Given the description of an element on the screen output the (x, y) to click on. 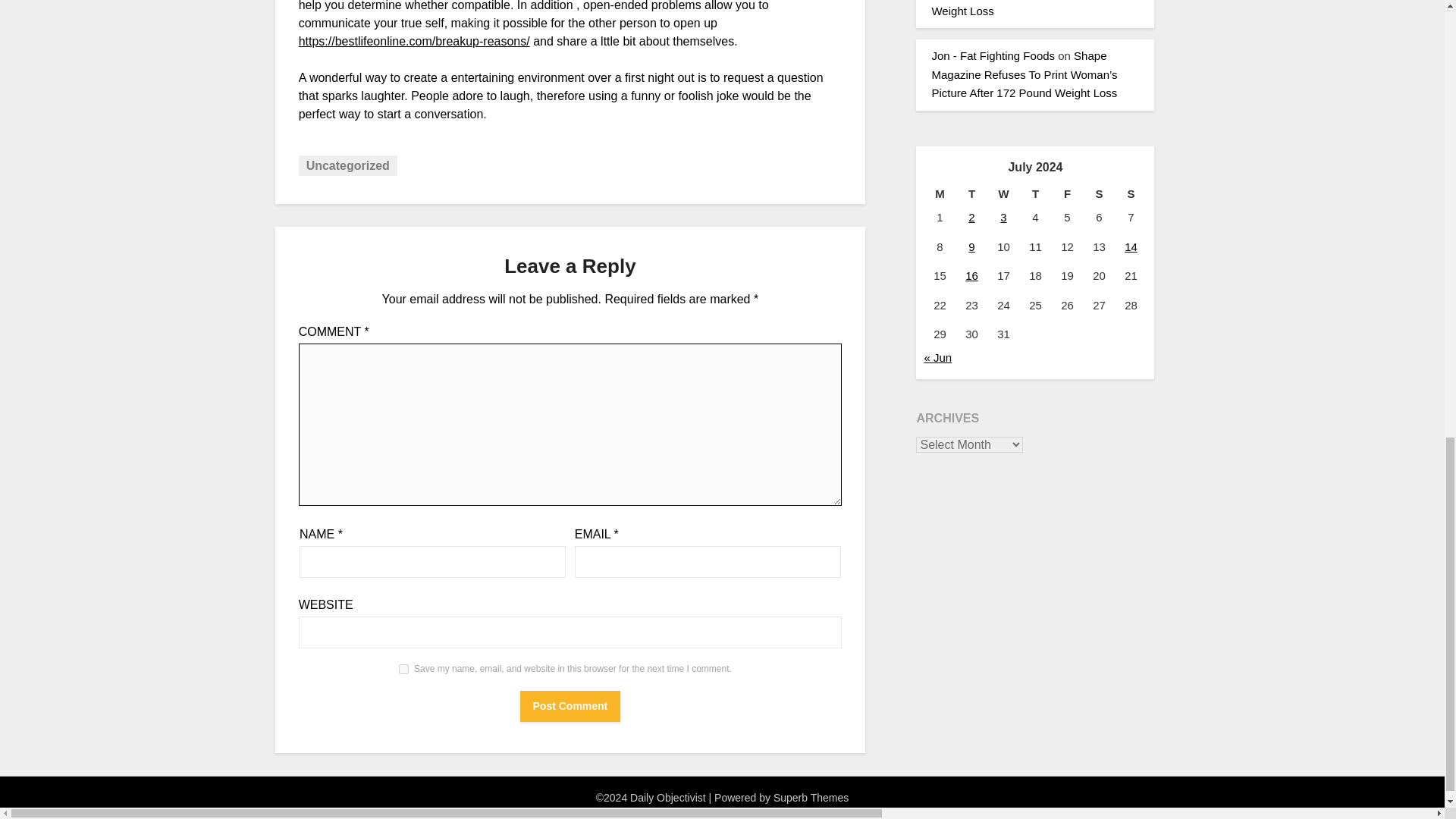
Thursday (1035, 194)
Monday (939, 194)
Jon - Fat Fighting Foods (992, 55)
Saturday (1099, 194)
3 (1003, 216)
9 (971, 246)
Superb Themes (810, 797)
Tuesday (971, 194)
14 (1130, 246)
yes (403, 669)
Post Comment (570, 706)
Post Comment (570, 706)
16 (971, 275)
2 (971, 216)
Sunday (1131, 194)
